Given the description of an element on the screen output the (x, y) to click on. 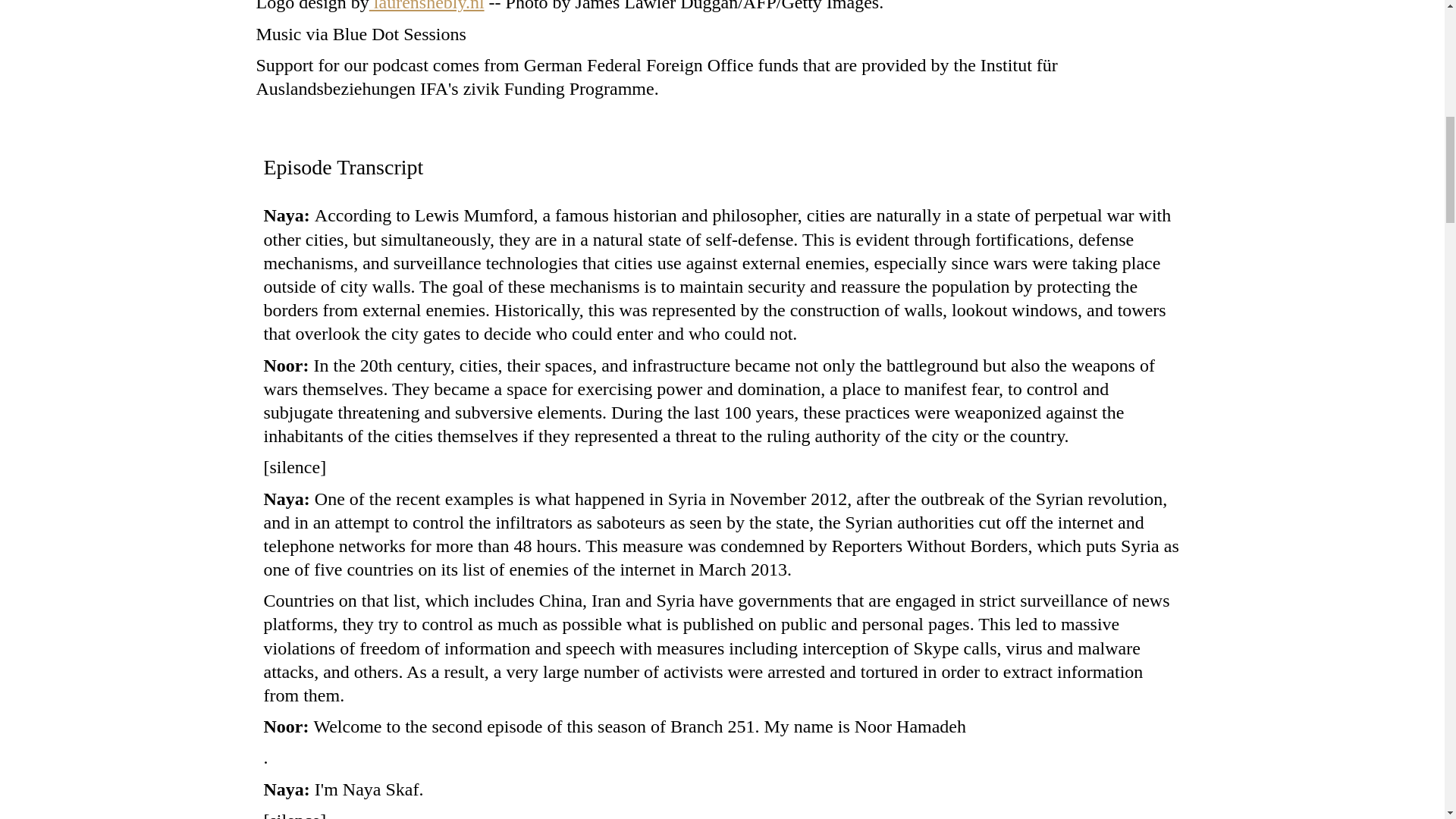
laurenshebly.nl (426, 6)
